Given the description of an element on the screen output the (x, y) to click on. 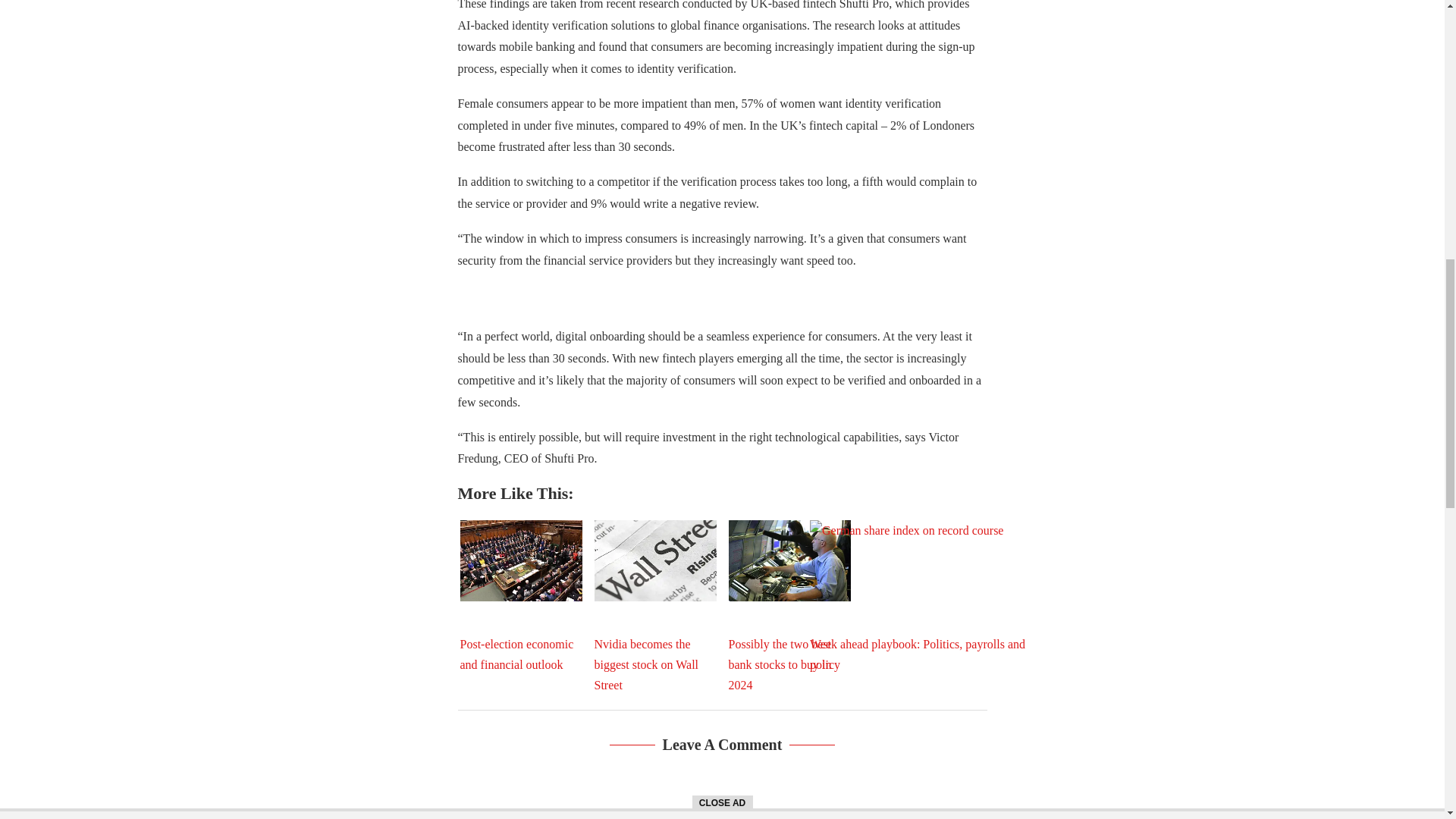
Nvidia becomes the biggest stock on Wall Street (655, 560)
Post-election economic and financial outlook (520, 560)
Possibly the two best bank stocks to buy in 2024 (789, 560)
Week ahead playbook: Politics, payrolls and policy (922, 596)
